Given the description of an element on the screen output the (x, y) to click on. 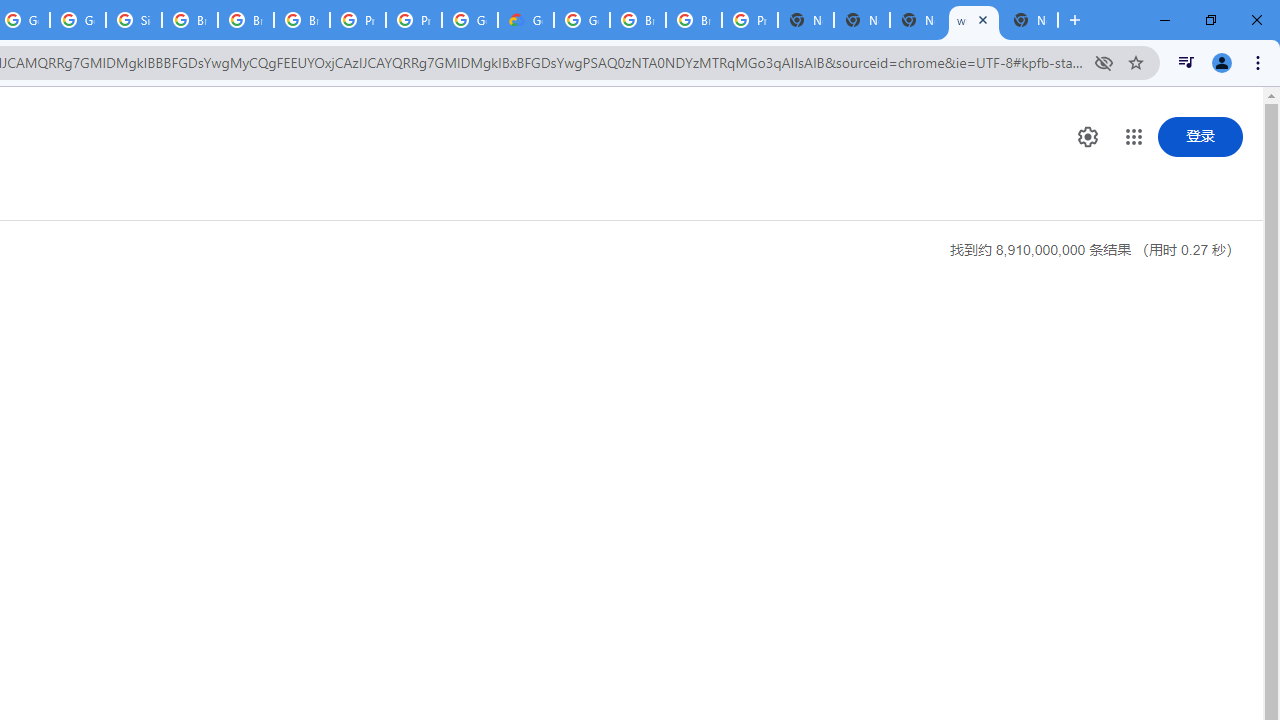
New Tab (806, 20)
Google Cloud Platform (582, 20)
Browse Chrome as a guest - Computer - Google Chrome Help (637, 20)
Browse Chrome as a guest - Computer - Google Chrome Help (189, 20)
